Given the description of an element on the screen output the (x, y) to click on. 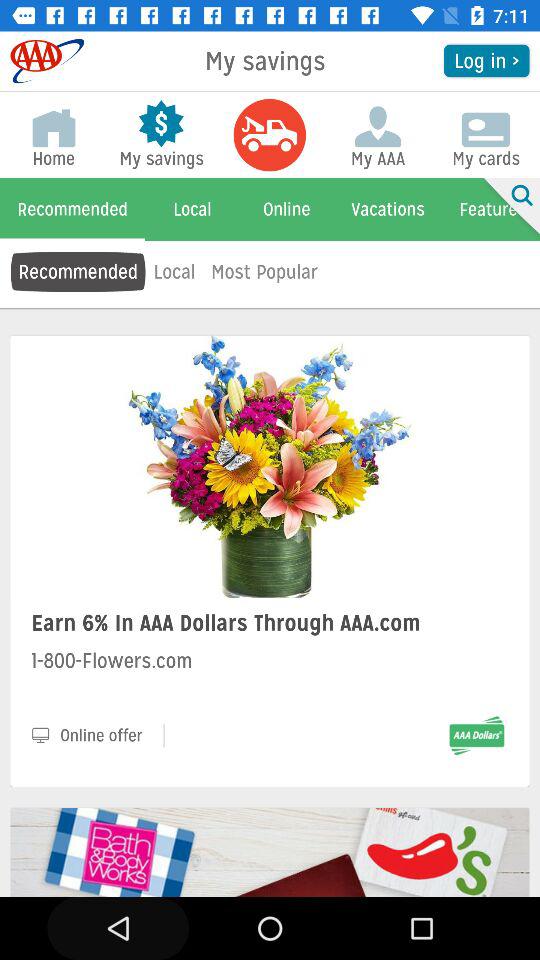
select item to the right of my aaa item (508, 209)
